Given the description of an element on the screen output the (x, y) to click on. 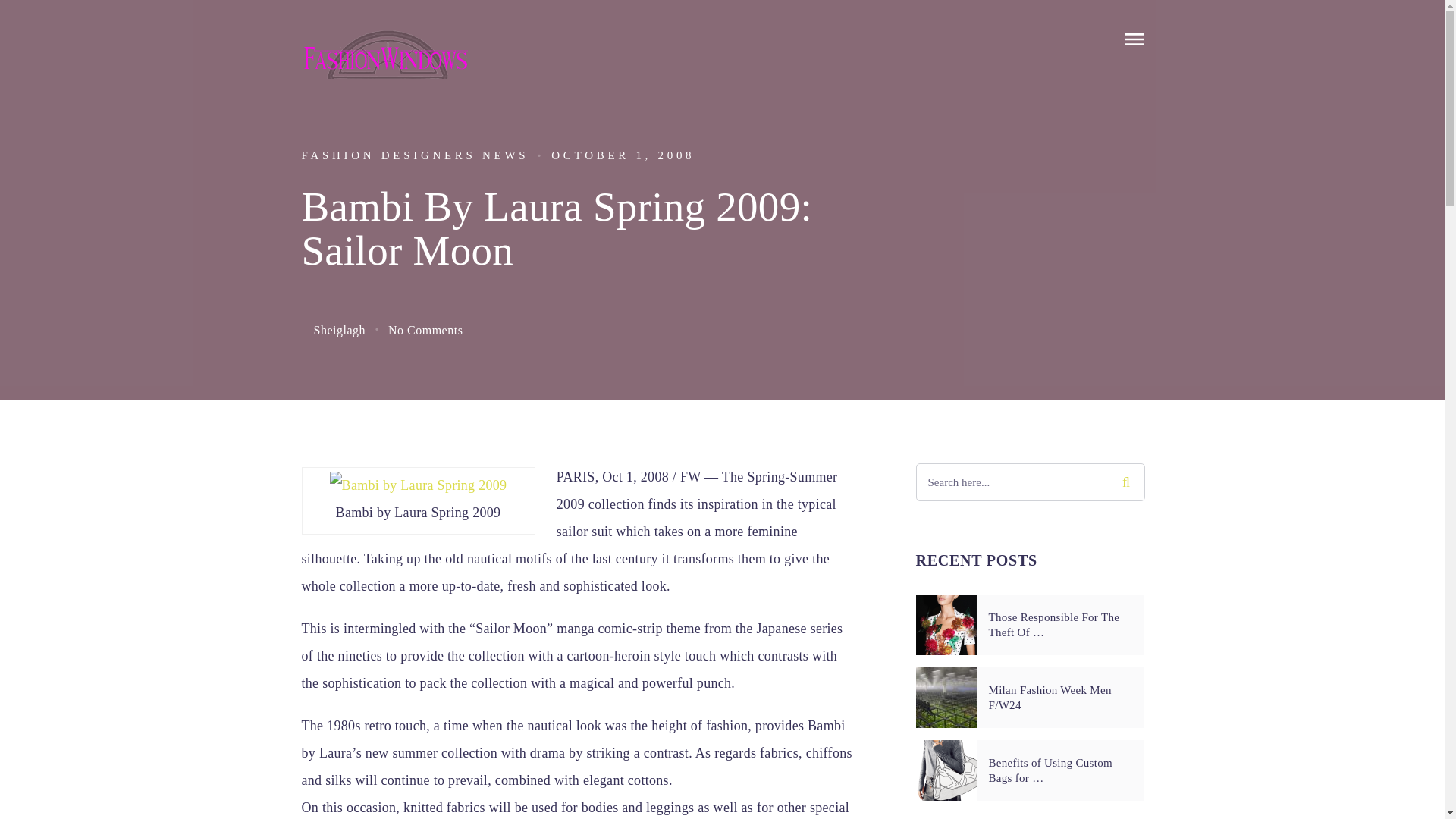
Sheiglagh (340, 329)
Benefits of Using Custom Bags for Your Brand Promotion (945, 770)
Posts by Sheiglagh (340, 329)
View all posts in Fashion Designers (388, 155)
Bambi by Laura Spring 2009 (418, 484)
Benefits of Using Custom Bags for Your Brand Promotion (1059, 770)
View all posts in News (504, 155)
No Comments (425, 329)
FASHION DESIGNERS (388, 155)
NEWS (504, 155)
